Given the description of an element on the screen output the (x, y) to click on. 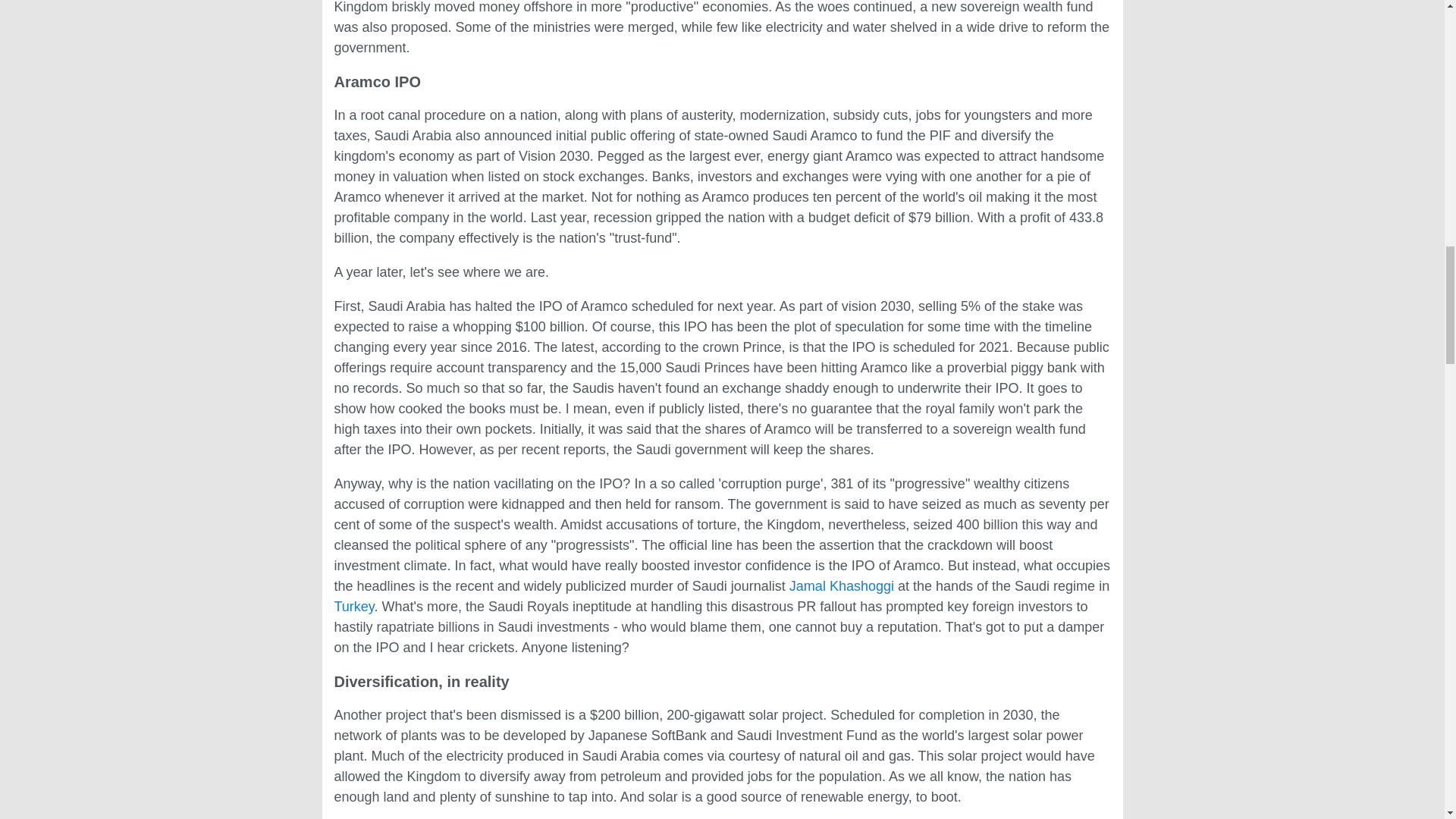
Turkey (353, 606)
Jamal Khashoggi (841, 585)
